Given the description of an element on the screen output the (x, y) to click on. 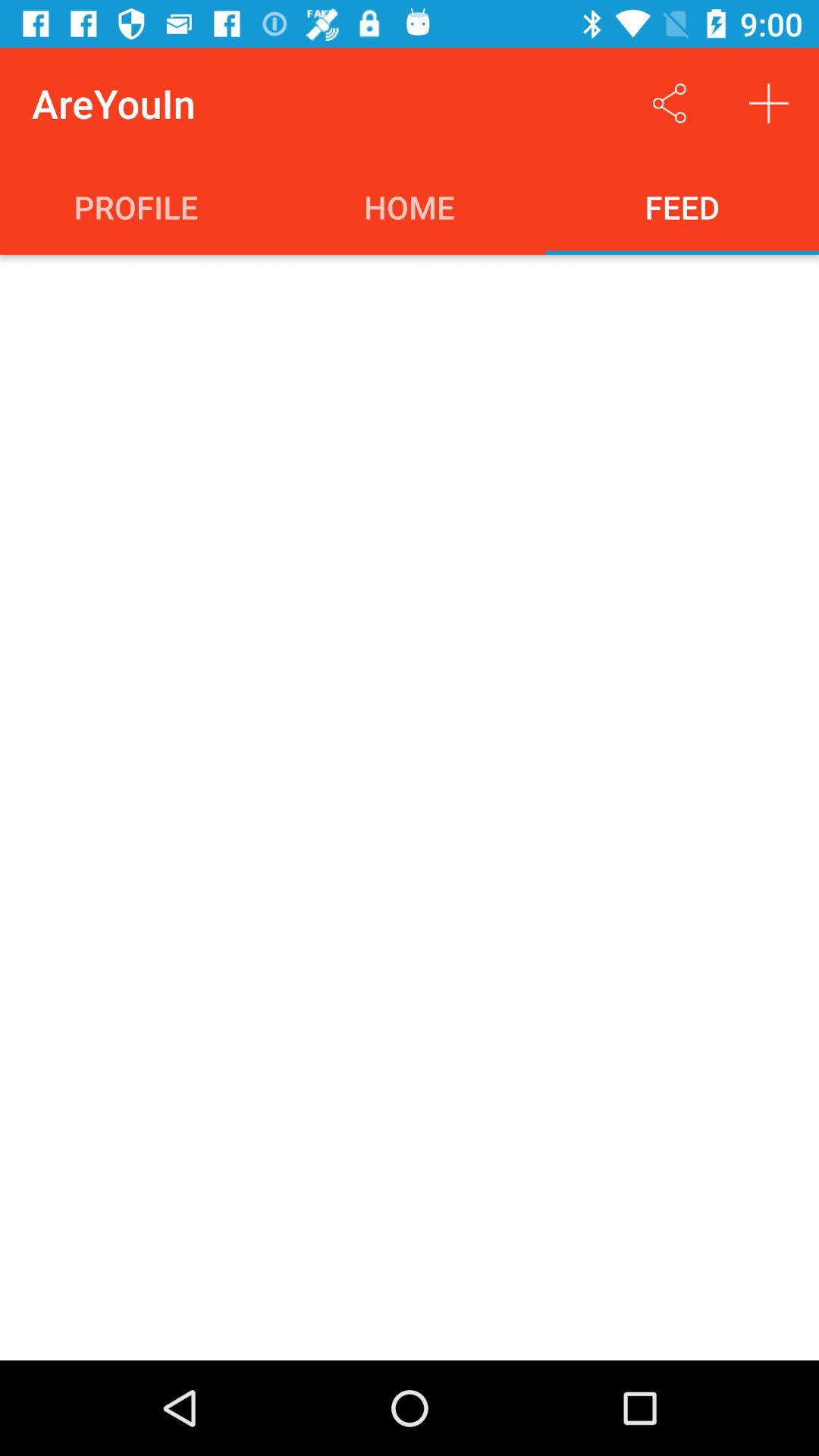
press the item above feed item (769, 103)
